Given the description of an element on the screen output the (x, y) to click on. 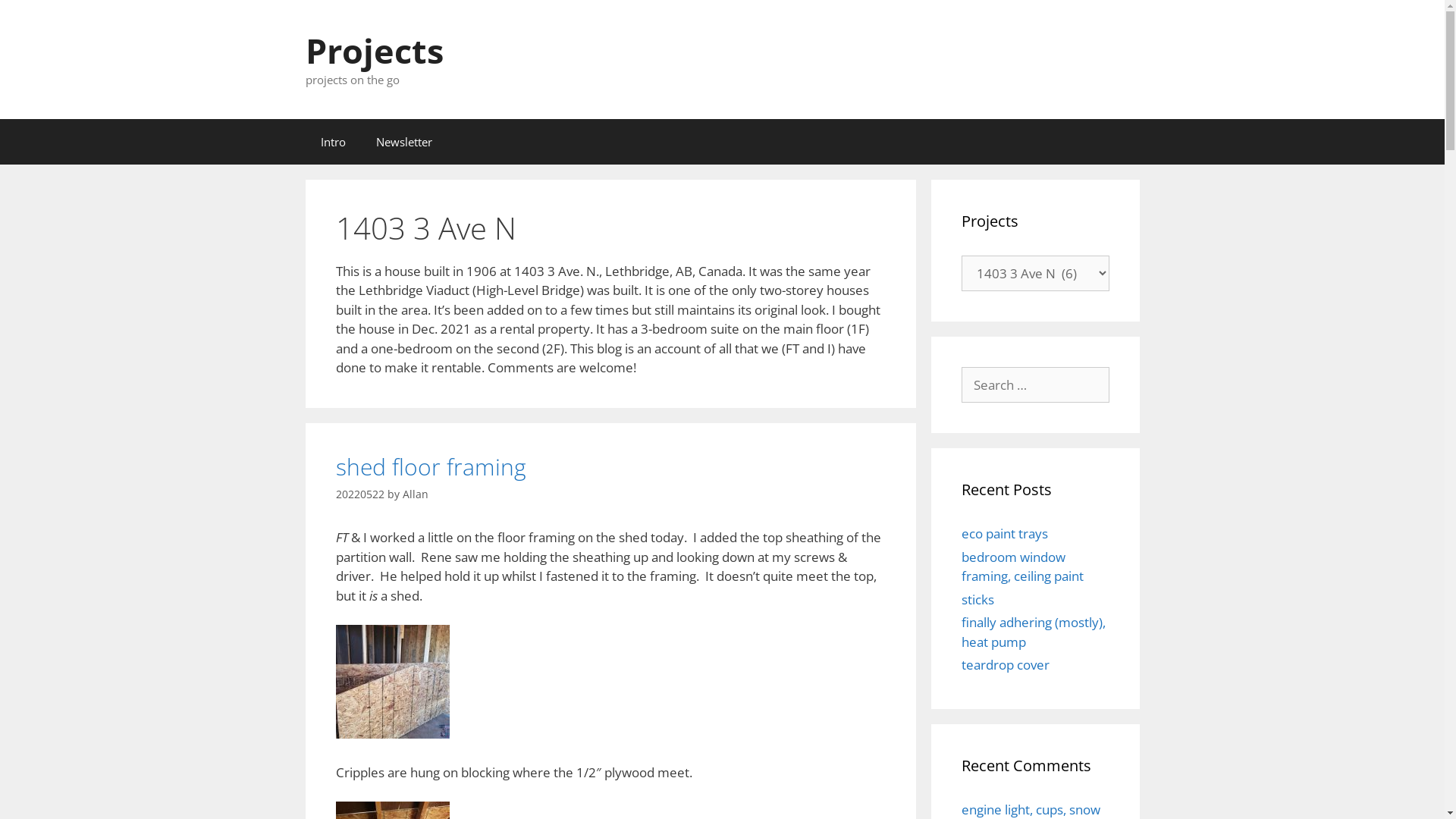
Search for: Element type: hover (1035, 385)
Intro Element type: text (332, 140)
Newsletter Element type: text (403, 140)
finally adhering (mostly), heat pump Element type: text (1033, 631)
teardrop cover Element type: text (1005, 664)
eco paint trays Element type: text (1004, 533)
Allan Element type: text (414, 493)
sticks Element type: text (977, 598)
Search Element type: text (36, 18)
shed floor framing Element type: text (430, 465)
Projects Element type: text (373, 50)
bedroom window framing, ceiling paint Element type: text (1022, 565)
